Given the description of an element on the screen output the (x, y) to click on. 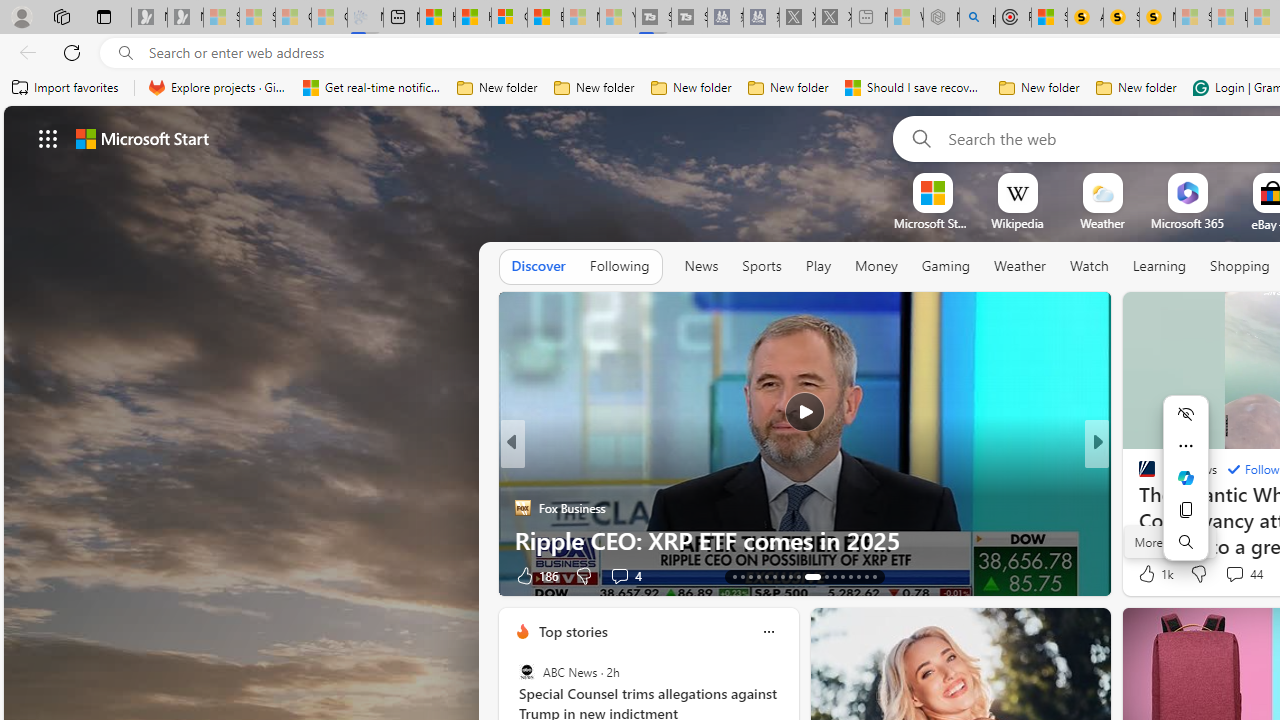
Fox Business (522, 507)
Newsletter Sign Up - Sleeping (185, 17)
Ad Choice (479, 575)
Michelle Starr, Senior Journalist at ScienceAlert (1157, 17)
Weather (1019, 267)
Import favorites (65, 88)
Weather (1020, 265)
View comments 3 Comment (1229, 575)
Sports (761, 265)
Following (619, 265)
Wildlife - MSN - Sleeping (905, 17)
